Given the description of an element on the screen output the (x, y) to click on. 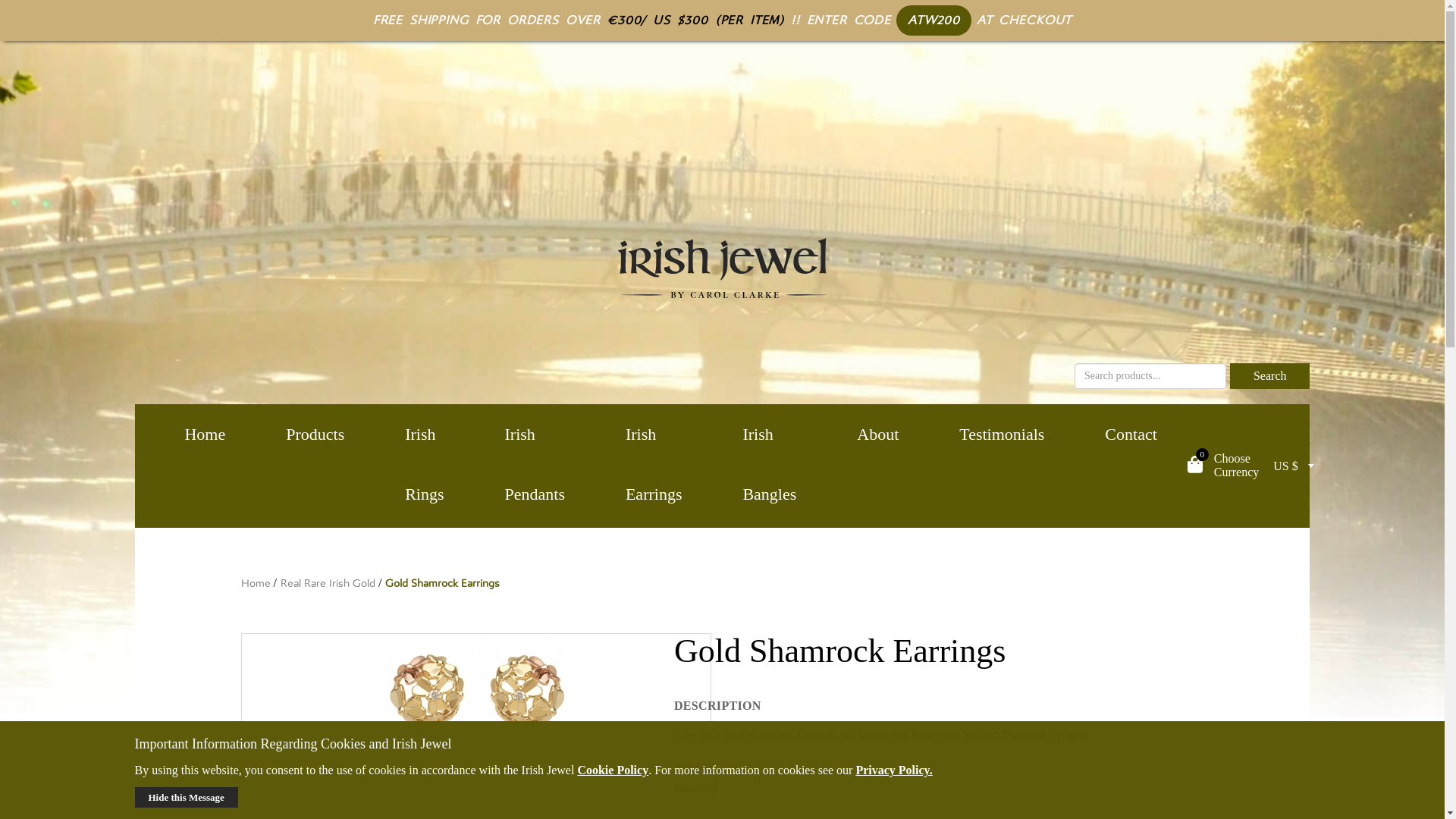
Buy Gold Shamrock Earrings on your Irish Jewelry eshop (475, 690)
Contact (1130, 434)
Irish Earrings (654, 464)
Testimonials (1001, 434)
About (877, 434)
Products (315, 434)
Irish Bangles (769, 464)
Home (205, 434)
Irish Pendants (534, 464)
Real Rare Irish Gold (328, 583)
Home (255, 583)
Irish Rings (424, 464)
Search (1270, 376)
Products (315, 434)
Irish Jewel (205, 434)
